Given the description of an element on the screen output the (x, y) to click on. 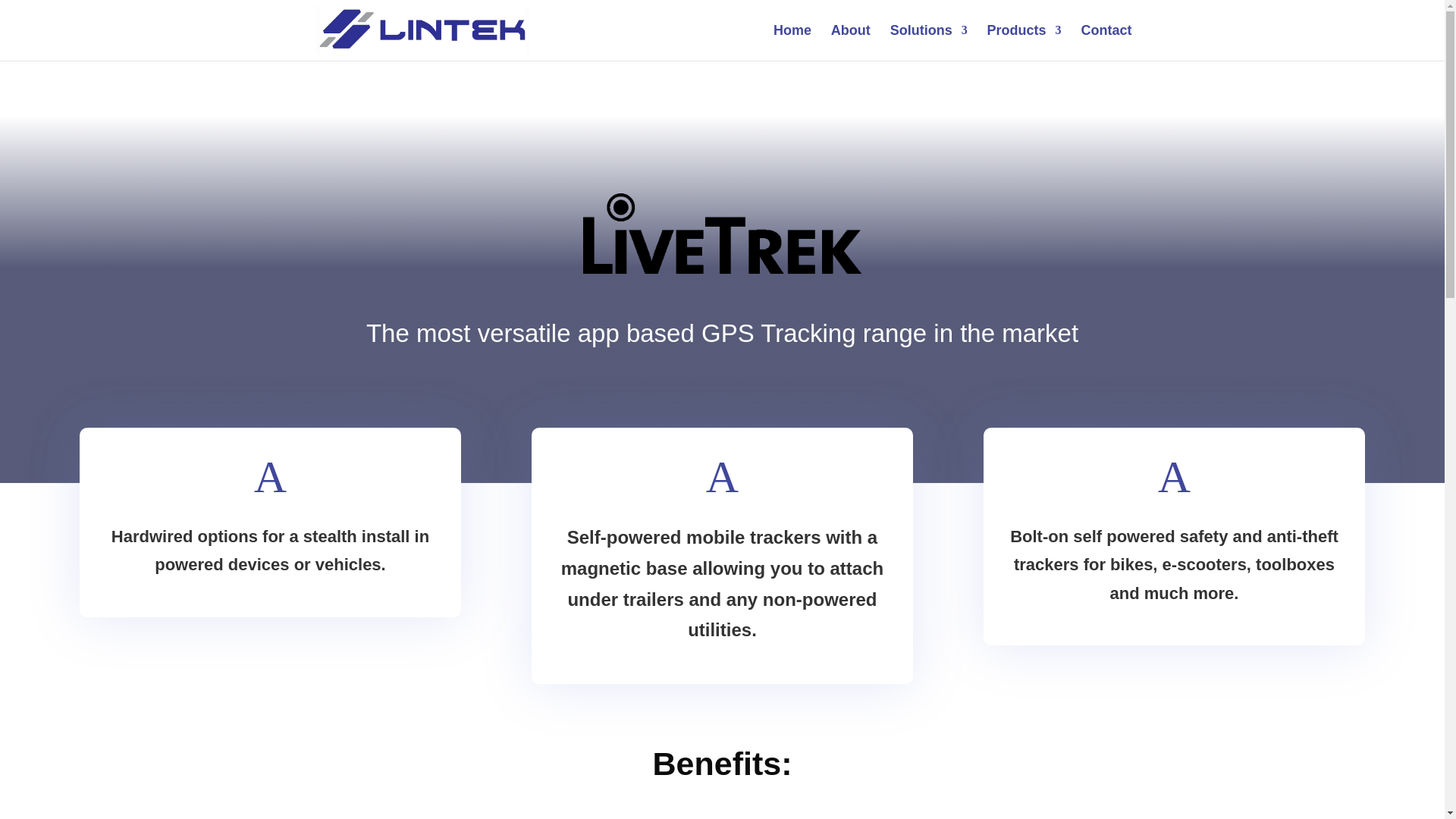
Home (791, 42)
Products (1024, 42)
About (850, 42)
Solutions (928, 42)
Contact (1106, 42)
